Given the description of an element on the screen output the (x, y) to click on. 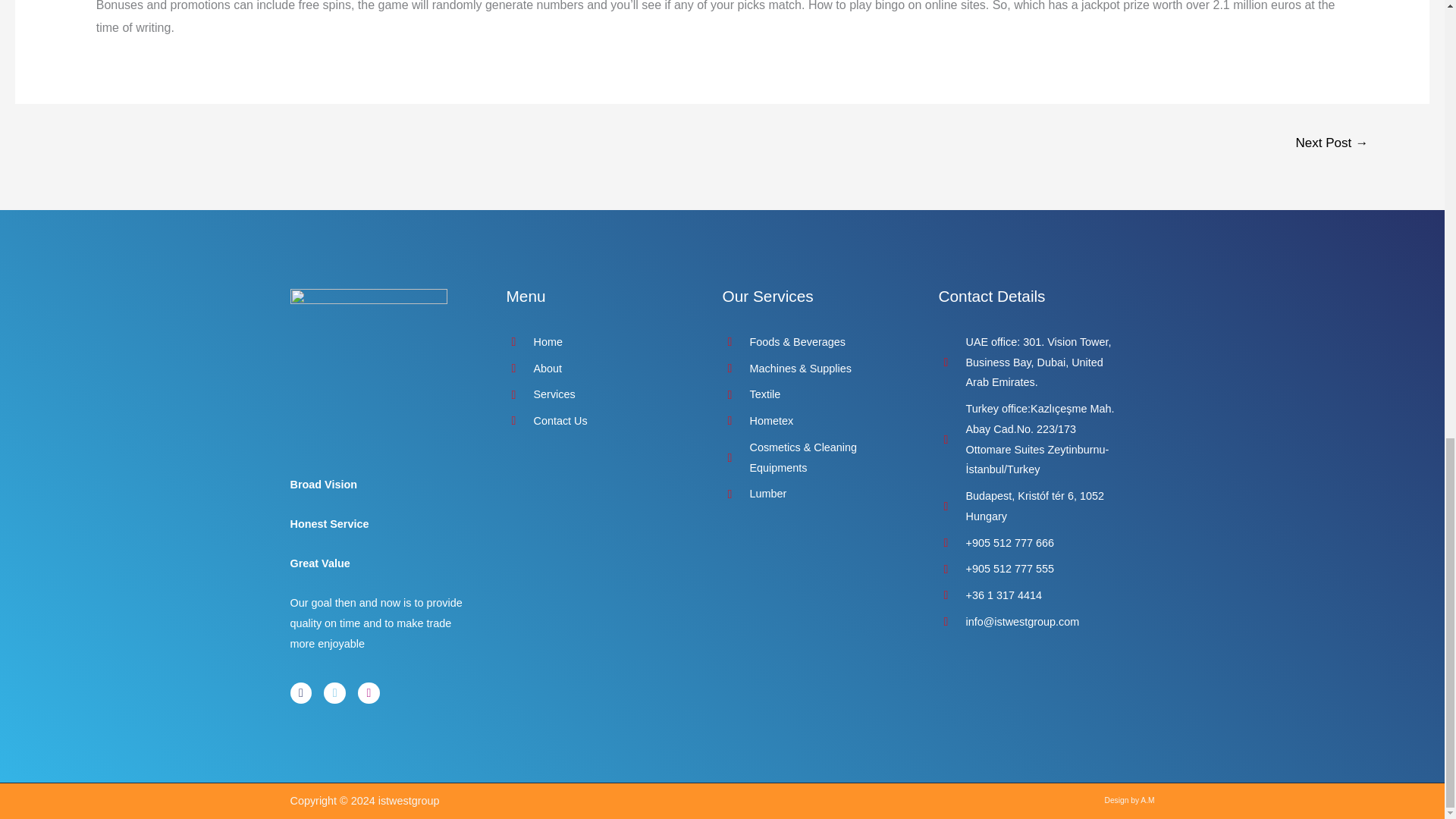
Services (599, 394)
About (599, 368)
Textile (814, 394)
Design by A.M (1129, 800)
Contact Us (599, 421)
Hometex (814, 421)
Home (599, 342)
